Given the description of an element on the screen output the (x, y) to click on. 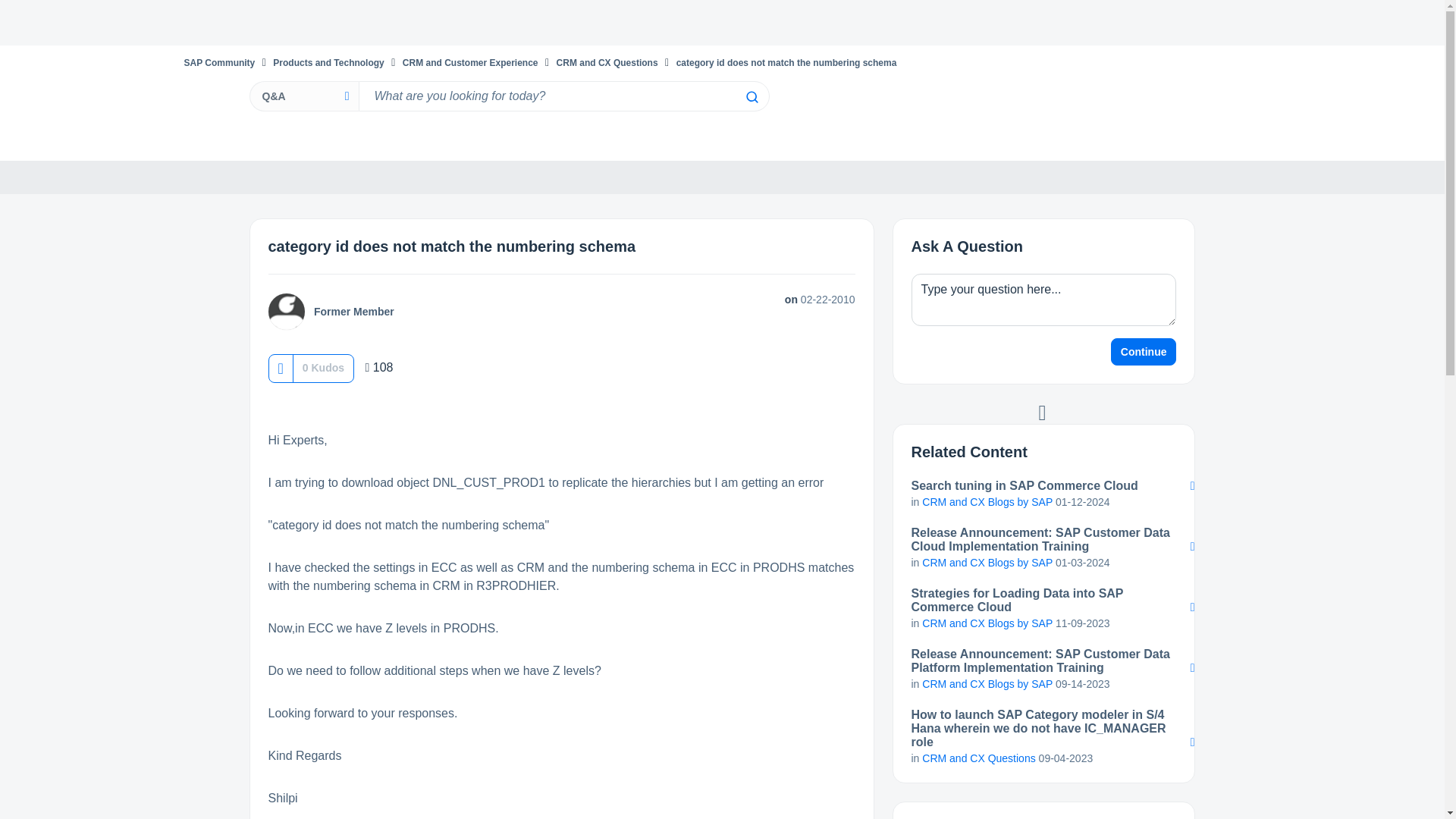
Search Granularity (303, 96)
CRM and CX Questions (607, 62)
Products and Technology (328, 62)
Search (750, 96)
Click here to give kudos to this post. (279, 367)
Search (750, 96)
SAP Community (218, 62)
Continue (1143, 351)
Search (563, 96)
The total number of kudos this post has received. (323, 367)
